Given the description of an element on the screen output the (x, y) to click on. 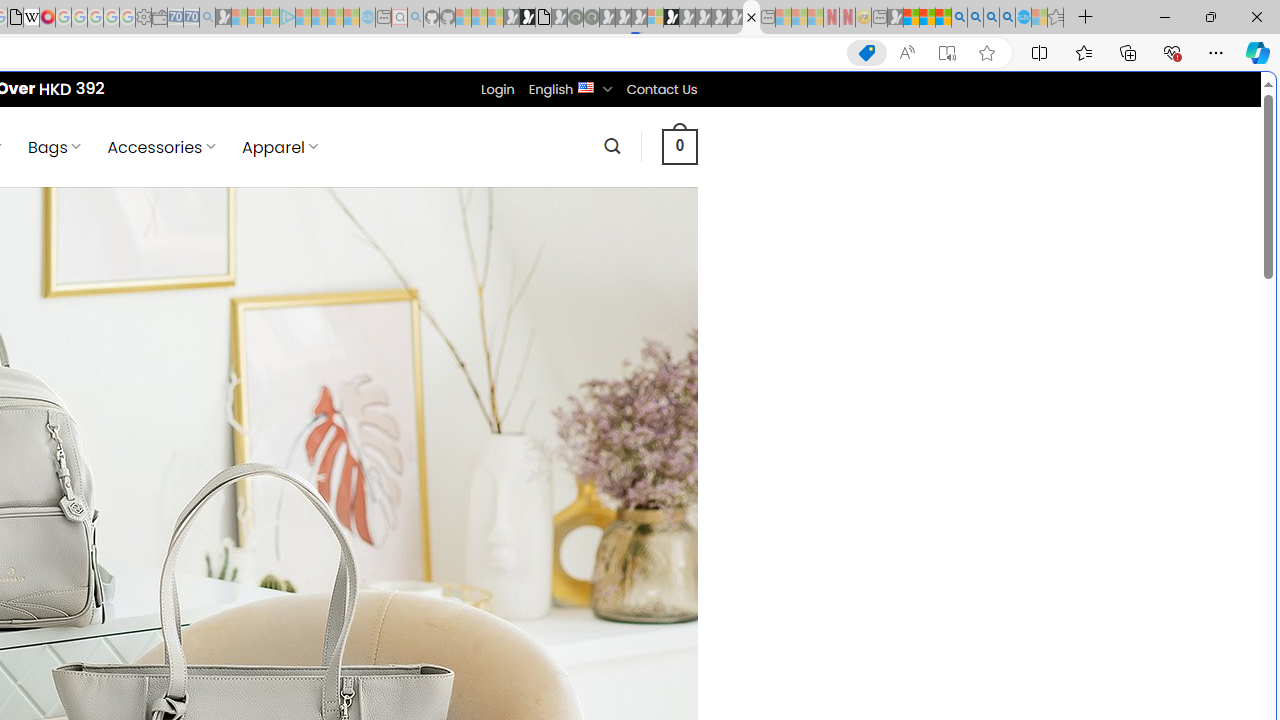
Play Zoo Boom in your browser | Games from Microsoft Start (527, 17)
Target page - Wikipedia (31, 17)
MSN - Sleeping (895, 17)
English (586, 86)
Sign in to your account - Sleeping (655, 17)
MediaWiki (47, 17)
